Given the description of an element on the screen output the (x, y) to click on. 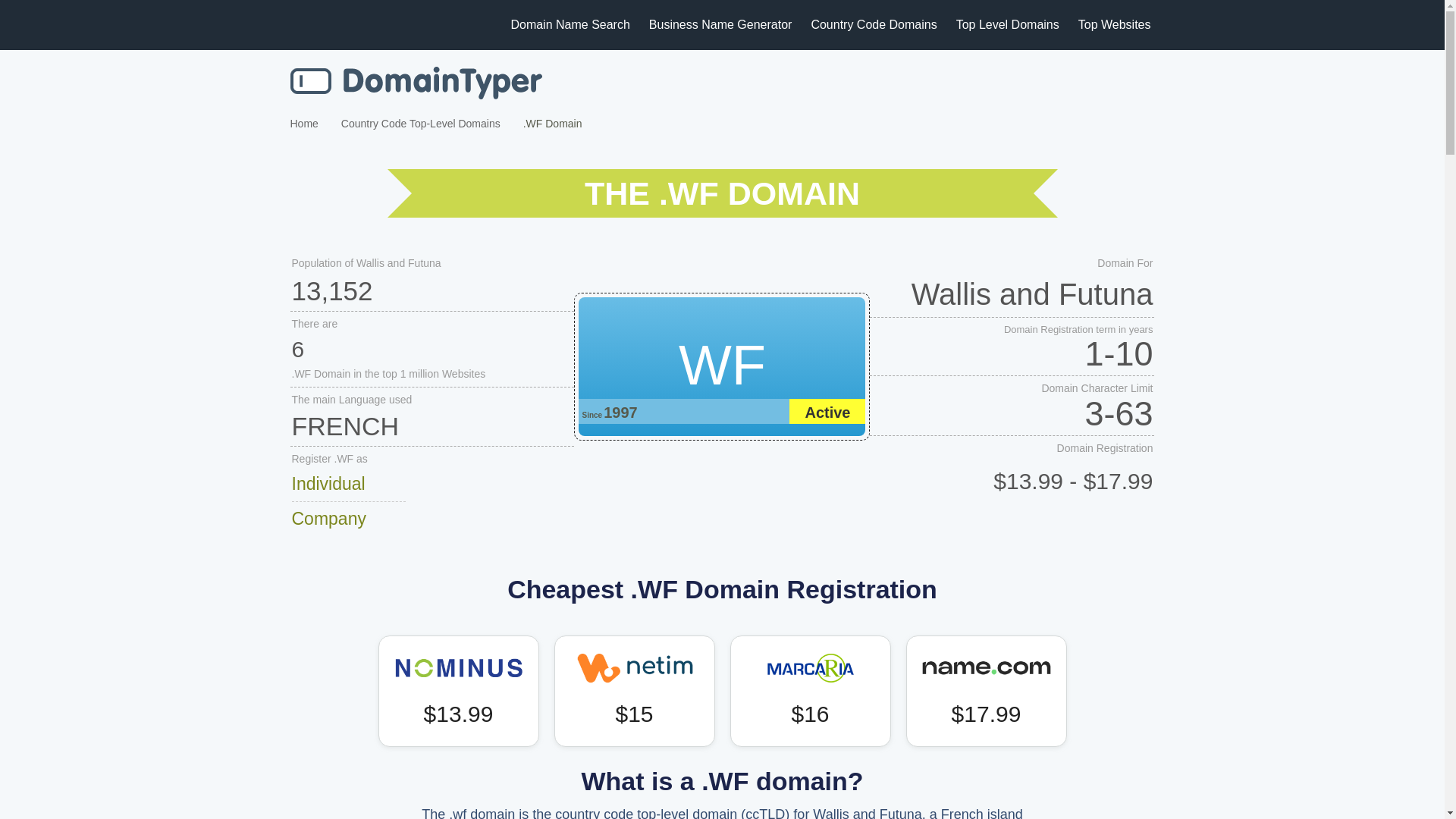
Top Level Domains (1008, 24)
Top Websites (1114, 24)
Home (303, 123)
Country Code Domains (873, 24)
Business Name Generator (720, 24)
Domain Name Search (415, 82)
Country Code Top-Level Domains (420, 123)
Domain Name Search (569, 24)
